Given the description of an element on the screen output the (x, y) to click on. 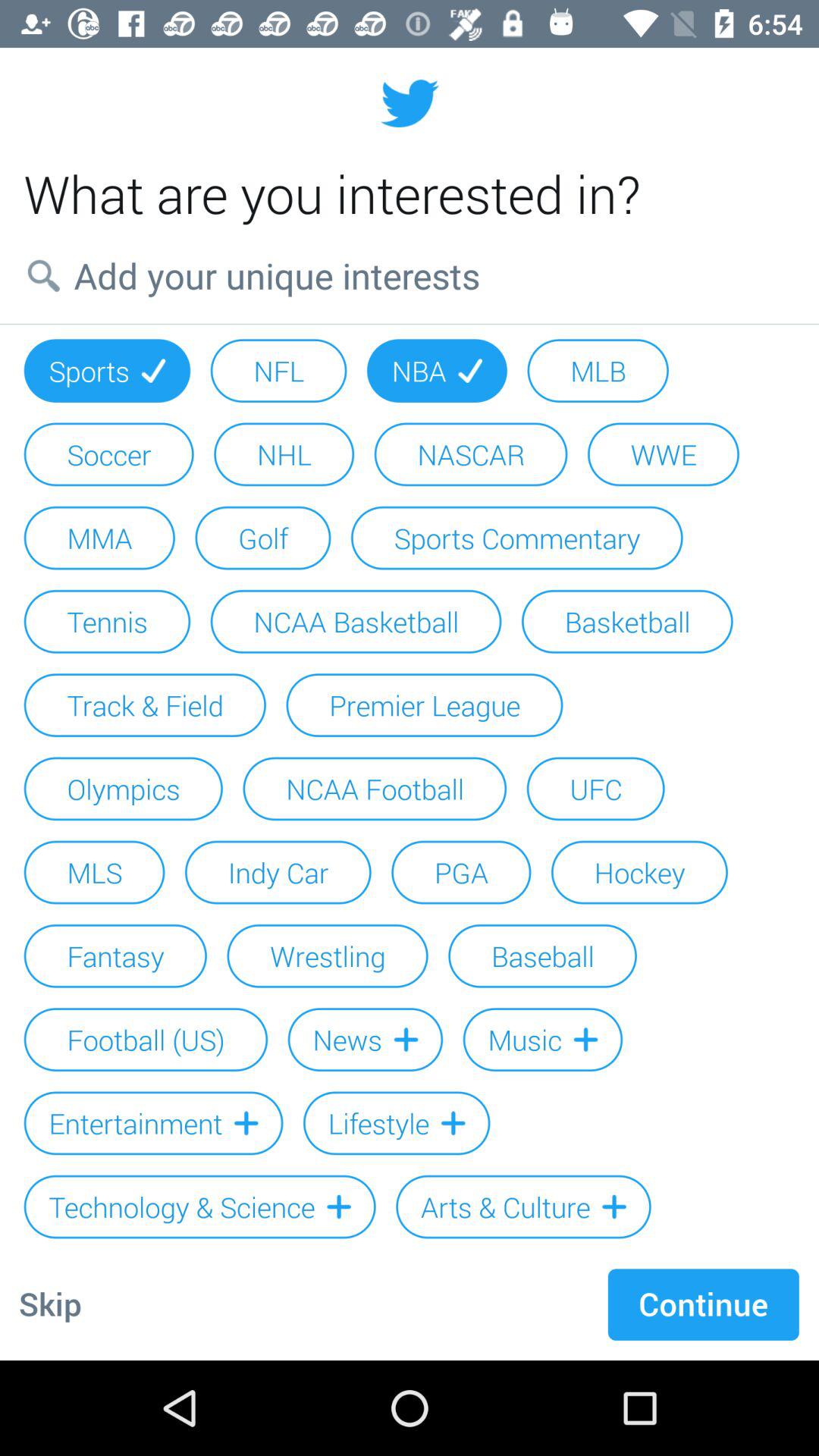
jump until arts & culture icon (523, 1206)
